Given the description of an element on the screen output the (x, y) to click on. 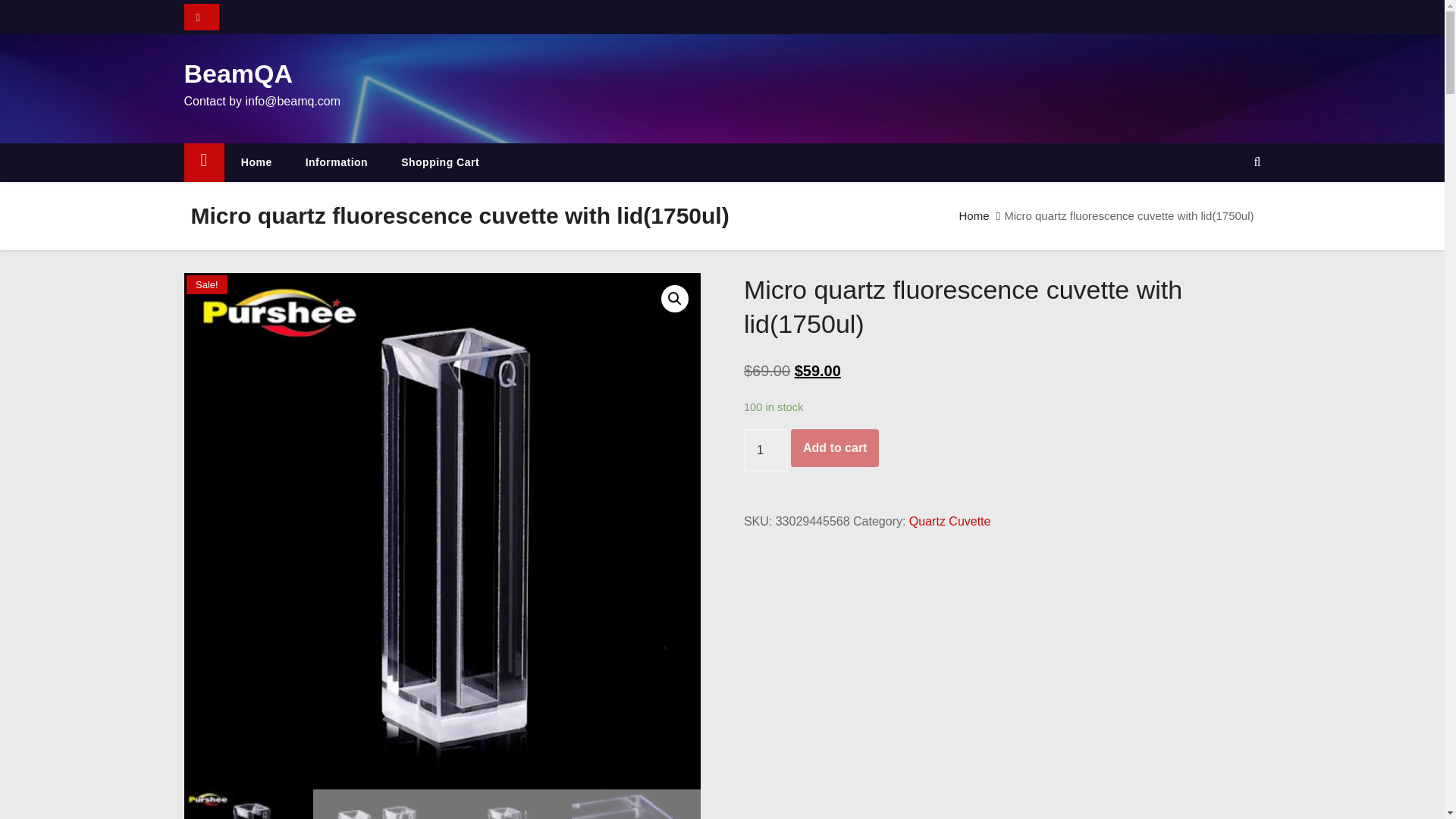
1 (765, 450)
Shopping Cart (440, 162)
Quartz Cuvette (949, 521)
Qty (765, 450)
Information (336, 162)
BeamQA (237, 72)
Home (973, 215)
Add to cart (834, 447)
Information (336, 162)
Shopping Cart (440, 162)
Home (256, 162)
Home (203, 162)
Home (256, 162)
Opens a widget where you can find more information (1386, 792)
